Given the description of an element on the screen output the (x, y) to click on. 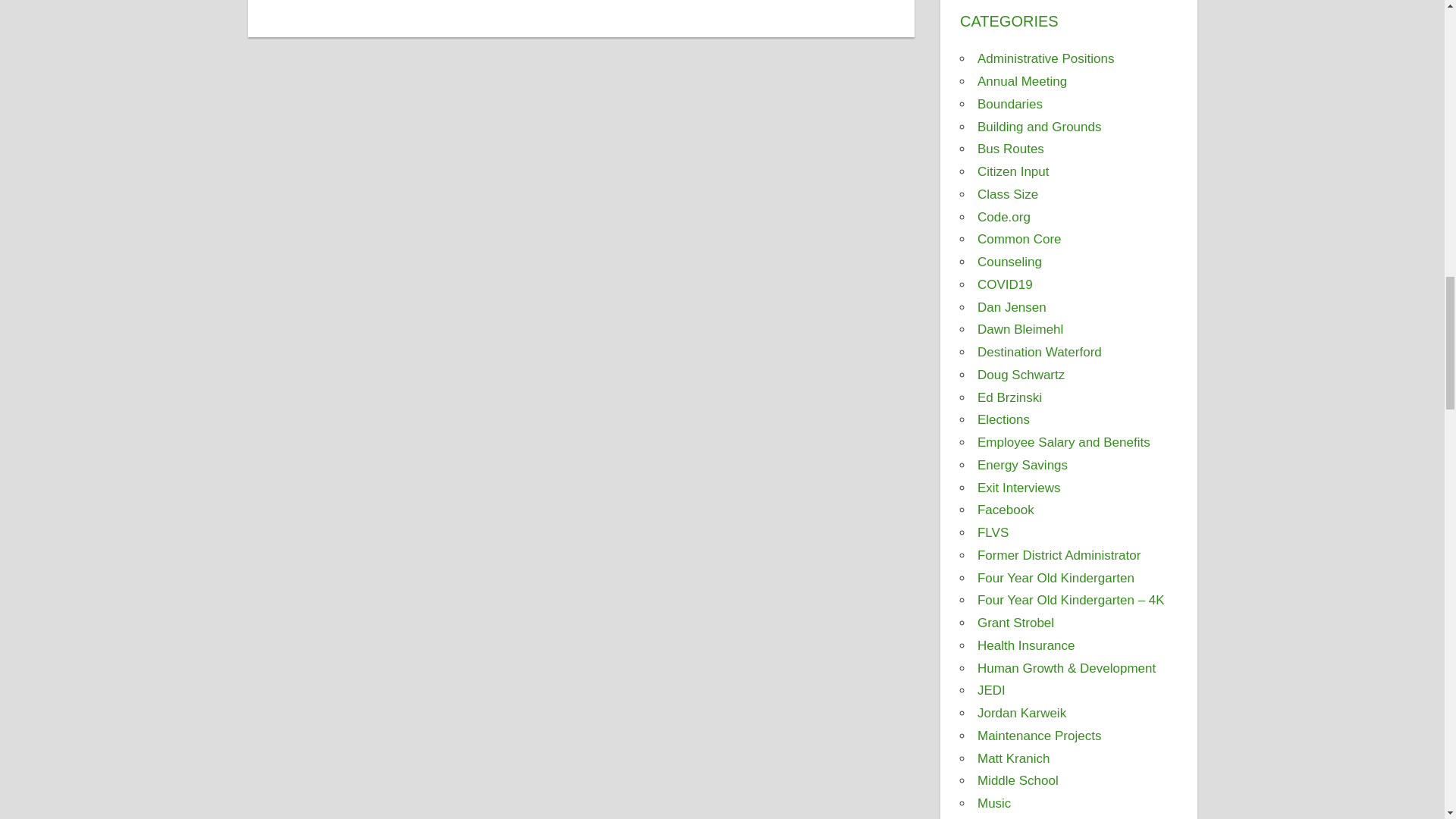
Bus Routes (1009, 148)
Administrative Positions (1044, 58)
Boundaries (1009, 104)
Citizen Input (1012, 171)
logged in (368, 0)
Building and Grounds (1039, 126)
Annual Meeting (1021, 81)
